Given the description of an element on the screen output the (x, y) to click on. 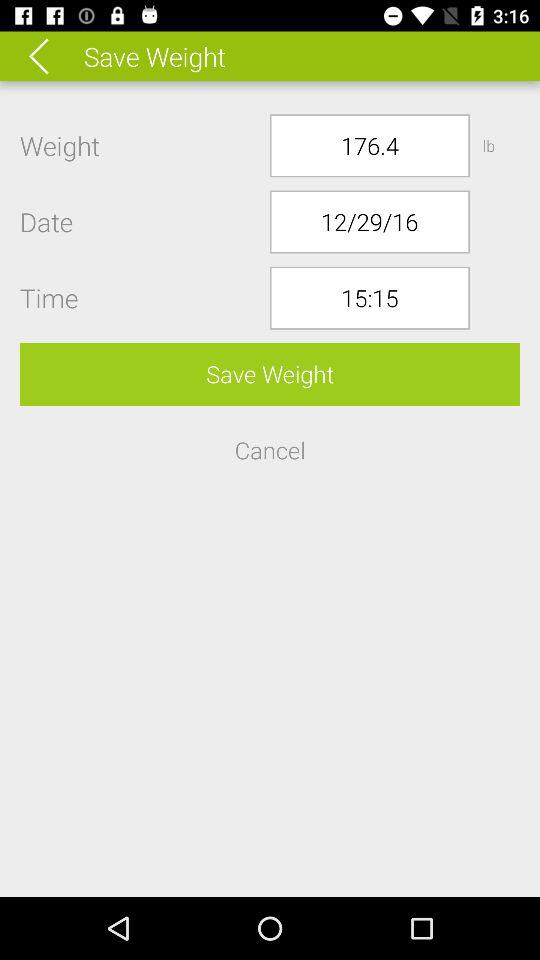
choose icon above 12/29/16 icon (369, 145)
